Given the description of an element on the screen output the (x, y) to click on. 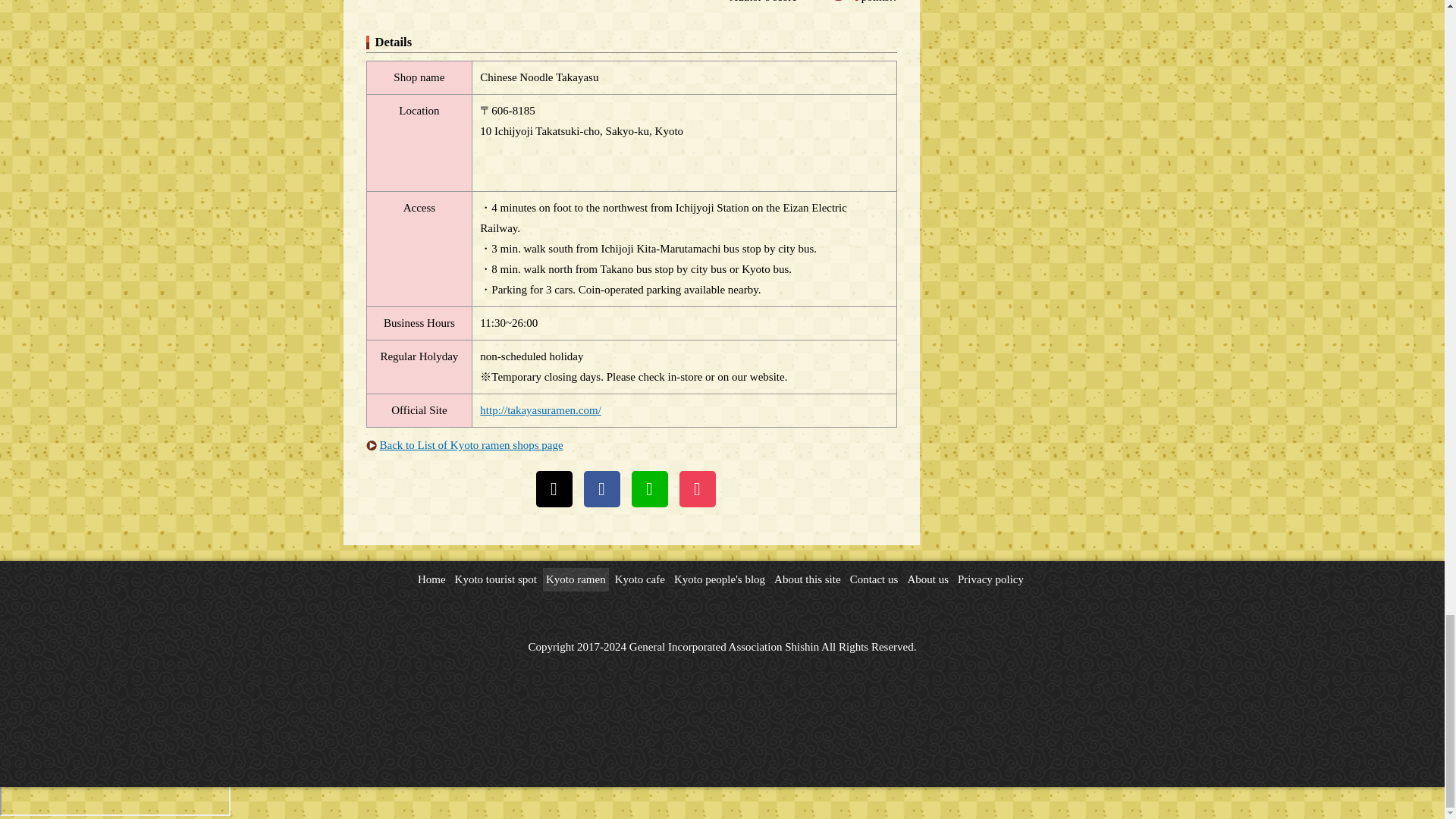
Back to List of Kyoto ramen shops page (470, 444)
